Given the description of an element on the screen output the (x, y) to click on. 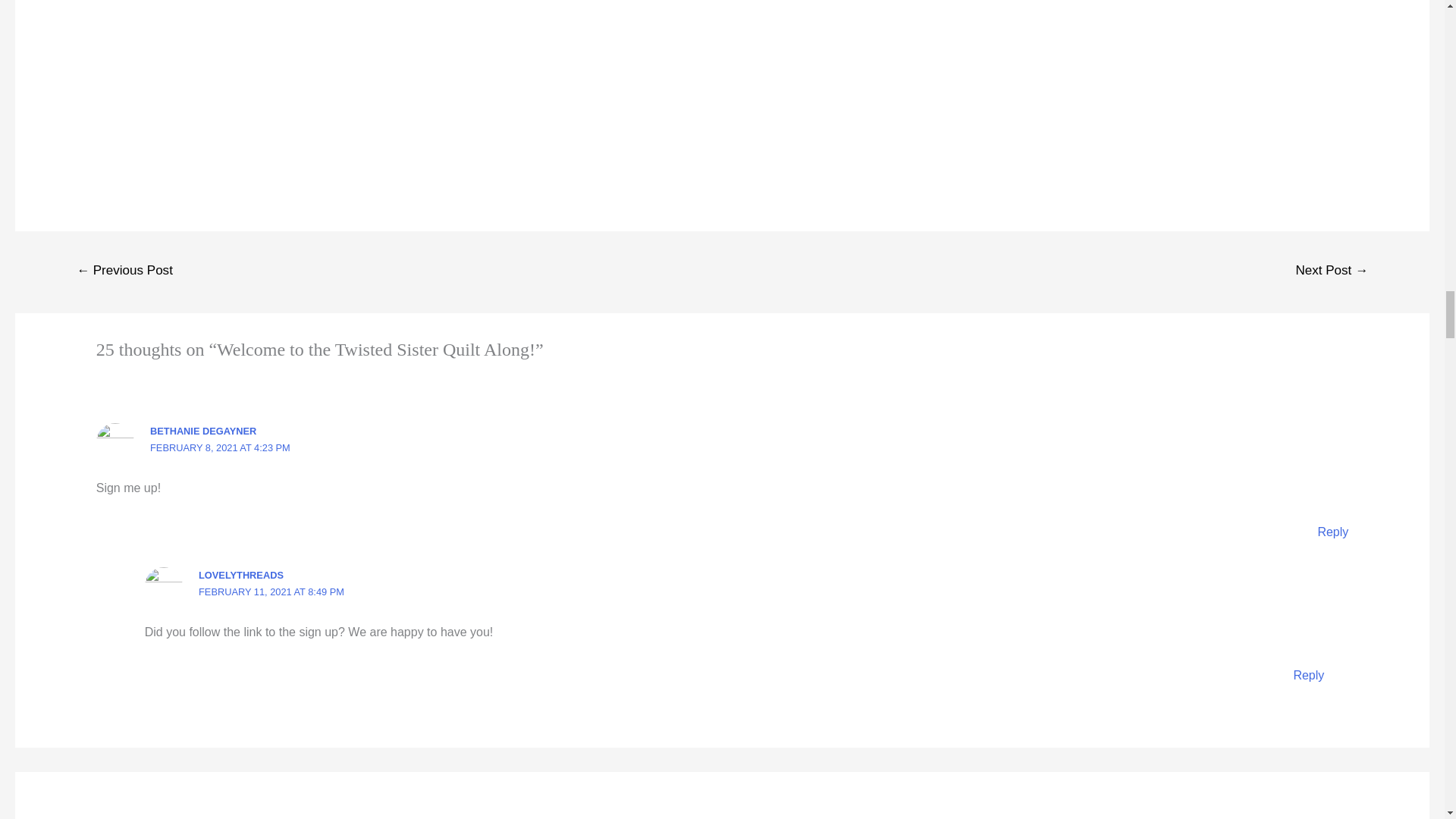
FEBRUARY 8, 2021 AT 4:23 PM (219, 447)
LOVELYTHREADS (240, 574)
BETHANIE DEGAYNER (202, 430)
FEBRUARY 11, 2021 AT 8:49 PM (270, 591)
Reply (1307, 675)
Reply (1332, 531)
